Given the description of an element on the screen output the (x, y) to click on. 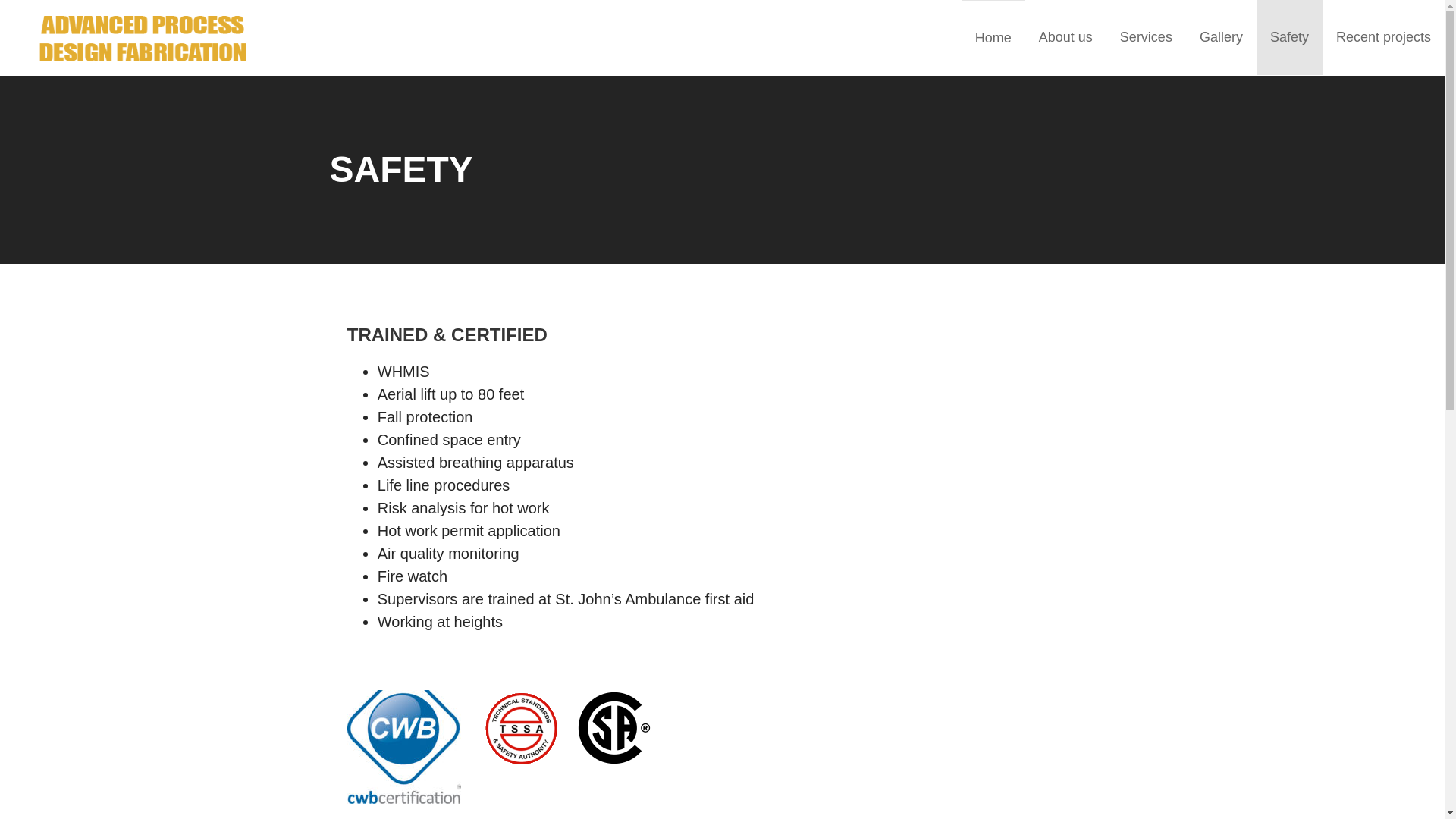
Skip to content Element type: text (0, 0)
Recent projects Element type: text (1383, 37)
Home Element type: text (993, 37)
ADVANCED PROCESS DESIGN FABRICATION Element type: text (241, 113)
Gallery Element type: text (1221, 37)
Safety Element type: text (1289, 37)
Services Element type: text (1146, 37)
About us Element type: text (1065, 37)
